Given the description of an element on the screen output the (x, y) to click on. 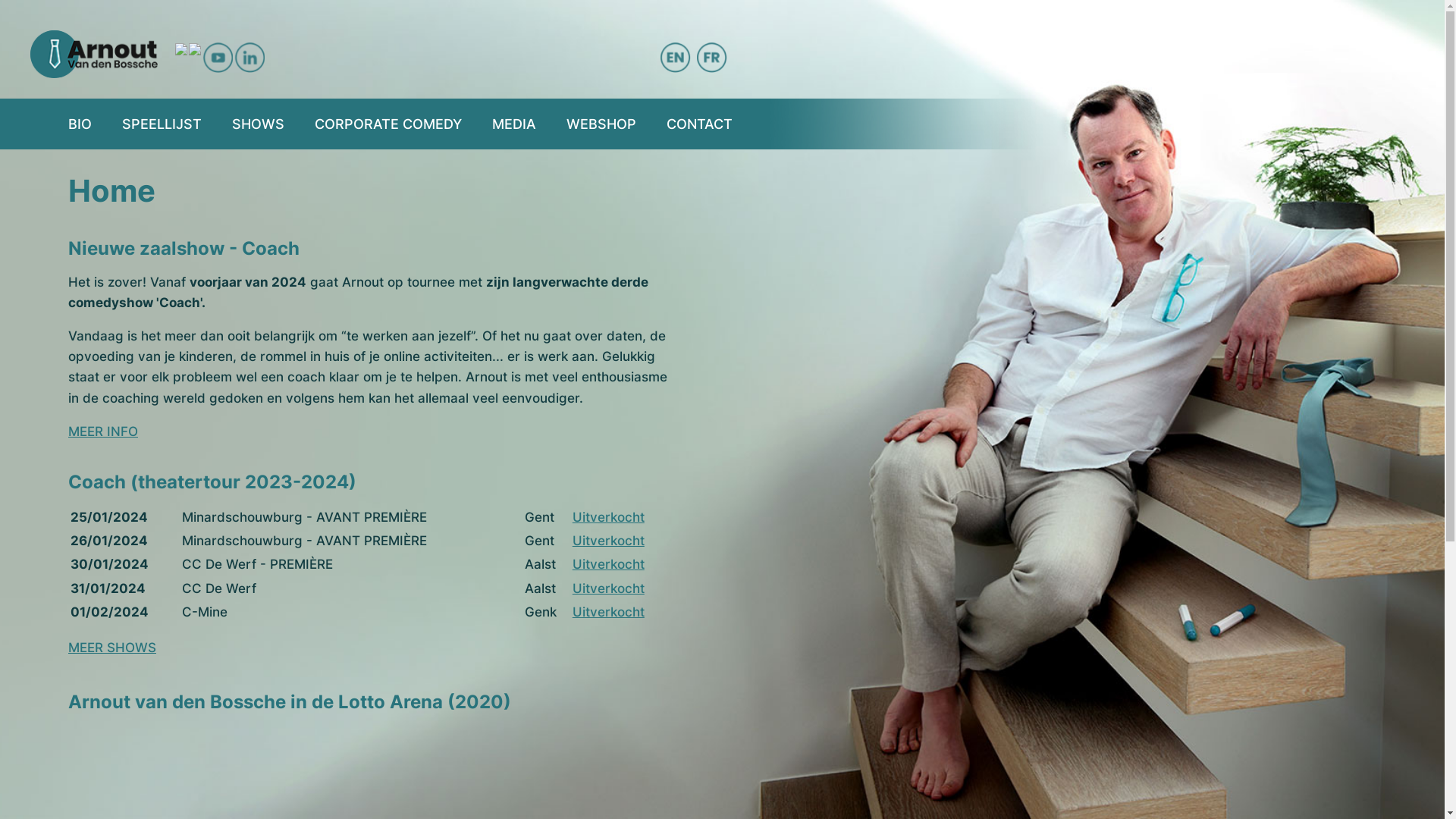
Uitverkocht Element type: text (608, 563)
CONTACT Element type: text (699, 123)
CORPORATE COMEDY Element type: text (387, 123)
MEER SHOWS Element type: text (112, 647)
Uitverkocht Element type: text (608, 516)
BIO Element type: text (79, 123)
Uitverkocht Element type: text (608, 540)
SPEELLIJST Element type: text (161, 123)
Uitverkocht Element type: text (608, 611)
SHOWS Element type: text (258, 123)
Uitverkocht Element type: text (608, 588)
MEDIA Element type: text (514, 123)
MEER INFO Element type: text (103, 431)
WEBSHOP Element type: text (601, 123)
